Given the description of an element on the screen output the (x, y) to click on. 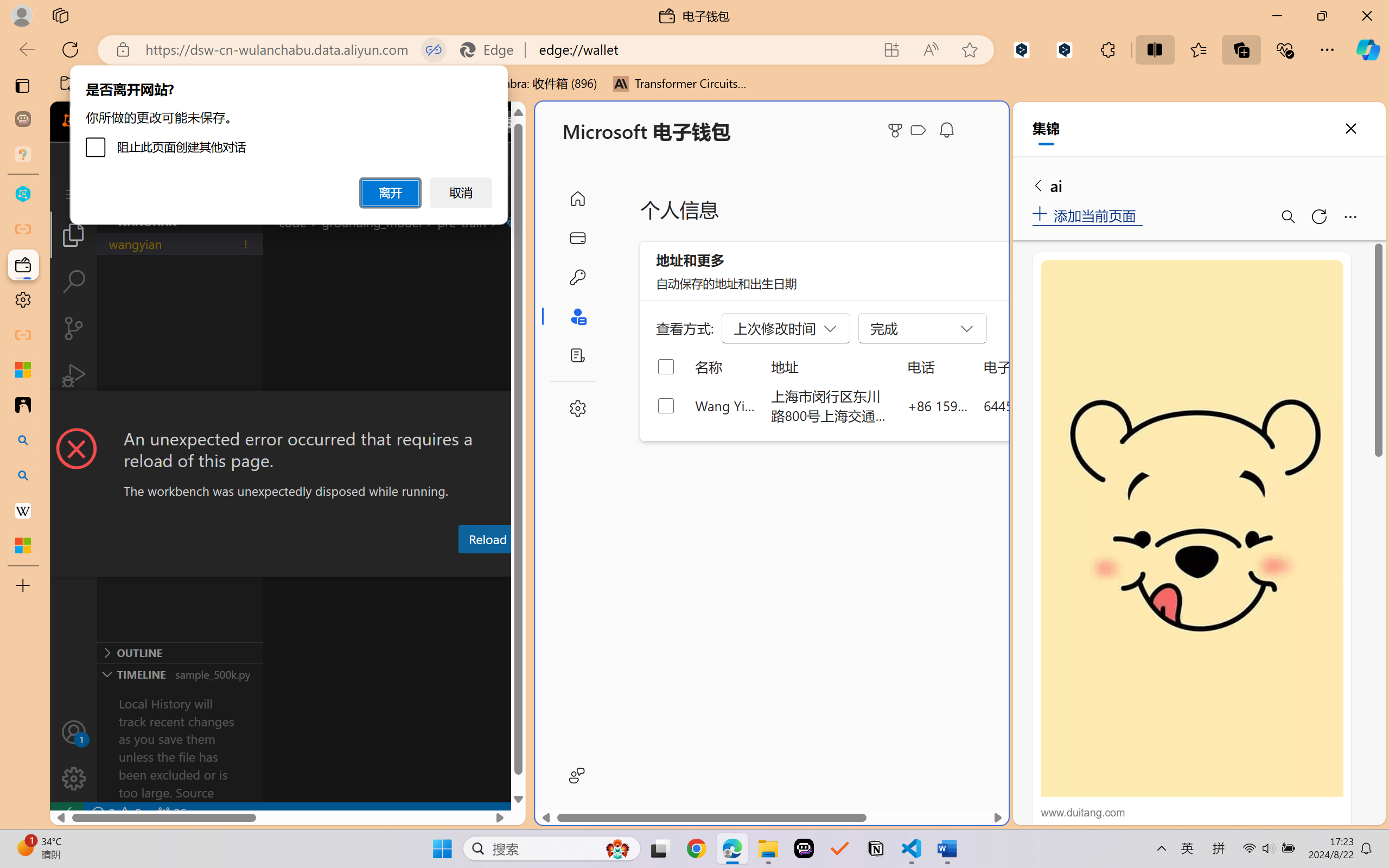
+86 159 0032 4640 (938, 405)
Class: ___1lmltc5 f1agt3bx f12qytpq (917, 130)
Problems (Ctrl+Shift+M) (308, 565)
